Given the description of an element on the screen output the (x, y) to click on. 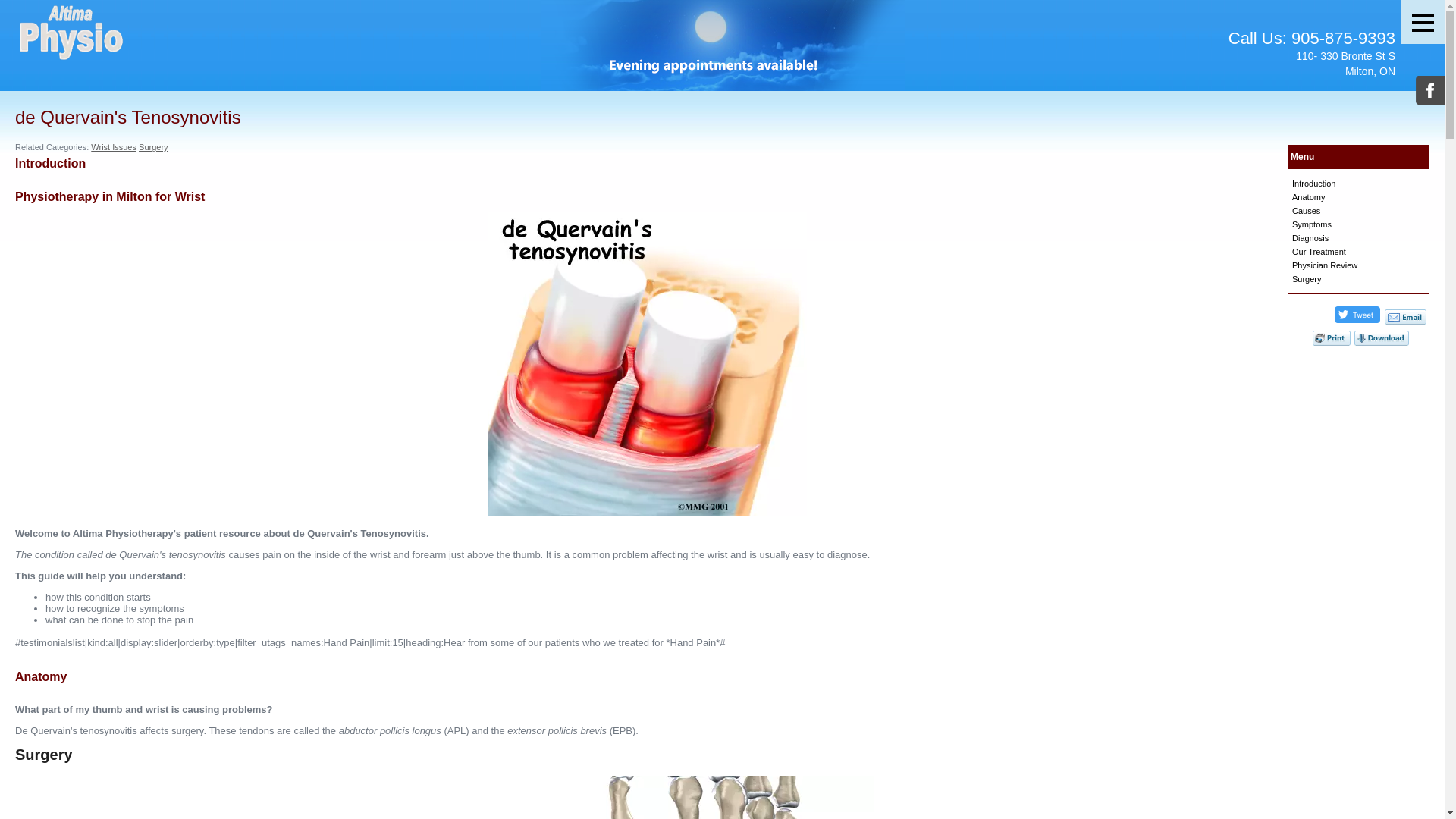
Diagnosis Element type: text (1310, 237)
Anatomy Element type: text (1308, 196)
Wrist Issues Element type: text (113, 146)
Introduction Element type: text (1313, 183)
Causes Element type: text (1306, 210)
Symptoms Element type: text (1311, 224)
Our Treatment Element type: text (1319, 251)
Surgery Element type: text (1306, 278)
Physician Review Element type: text (1324, 264)
Surgery Element type: text (153, 146)
Open Menu Element type: text (1422, 21)
